Given the description of an element on the screen output the (x, y) to click on. 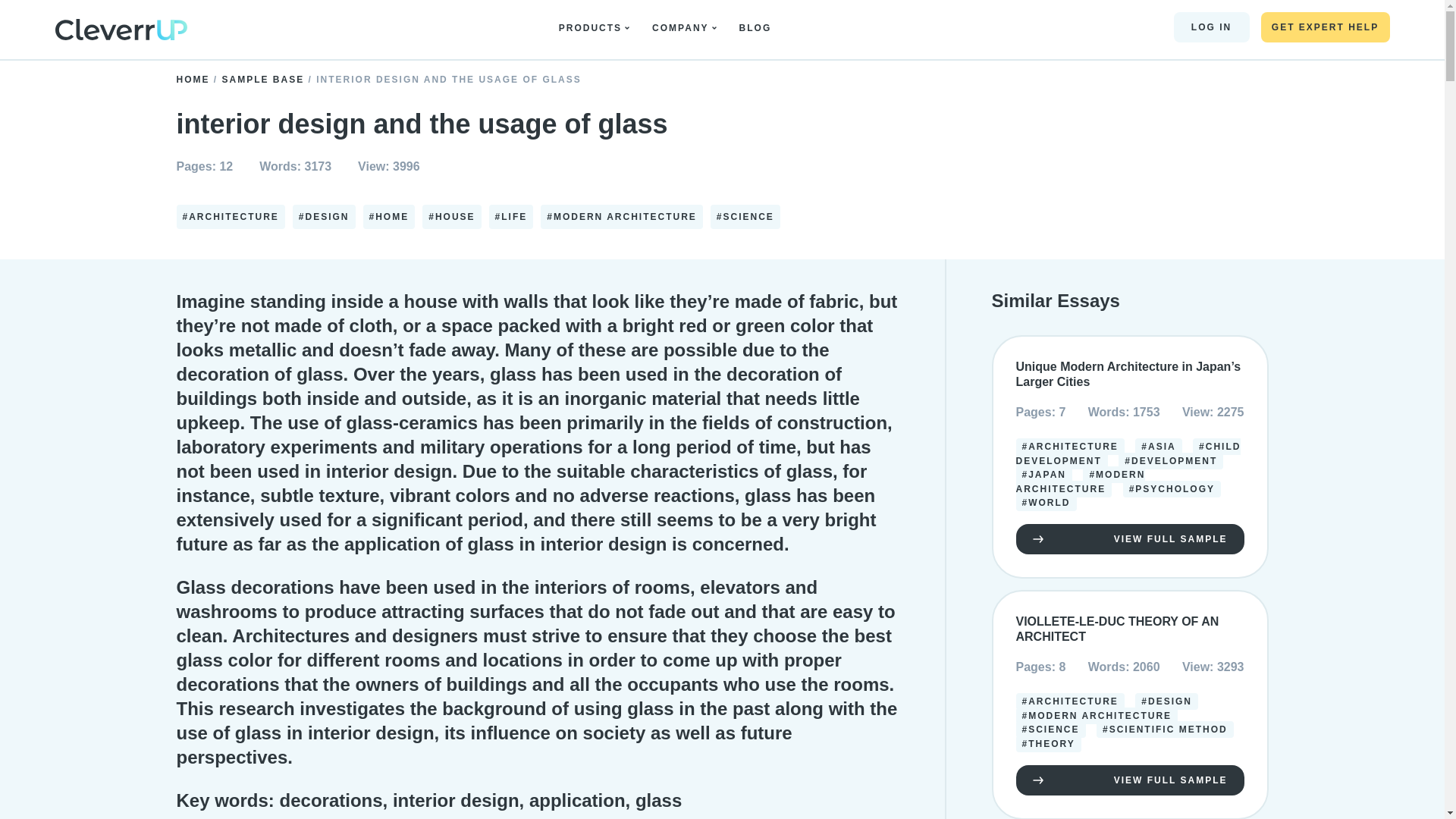
logo (120, 29)
LOG IN (1211, 27)
HOME (194, 79)
BLOG (758, 27)
SAMPLE BASE (265, 79)
Home (120, 32)
GET EXPERT HELP (1324, 27)
PRODUCTS (593, 27)
COMPANY (684, 27)
